Given the description of an element on the screen output the (x, y) to click on. 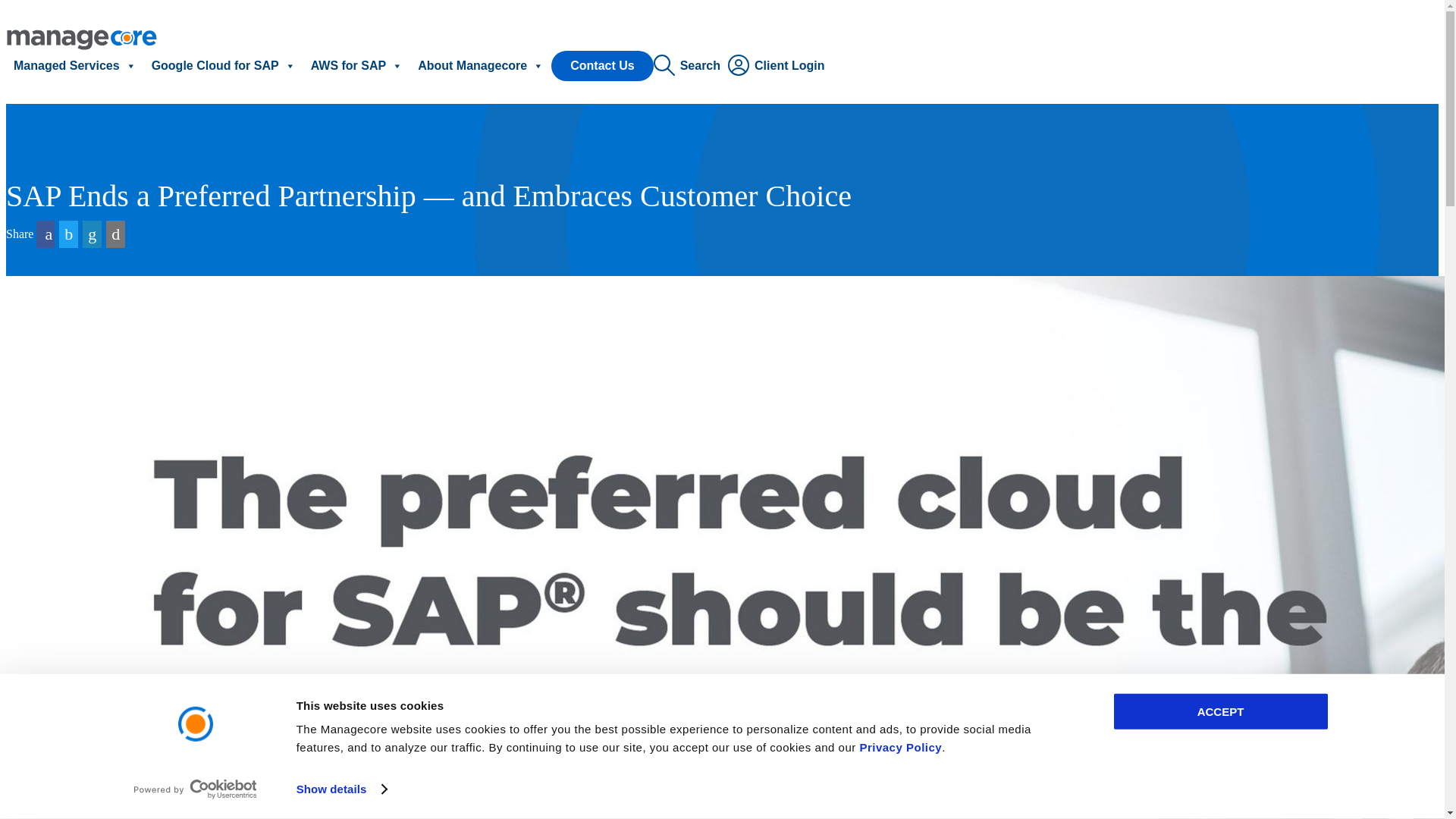
Show details (341, 789)
Privacy Policy (900, 747)
